Given the description of an element on the screen output the (x, y) to click on. 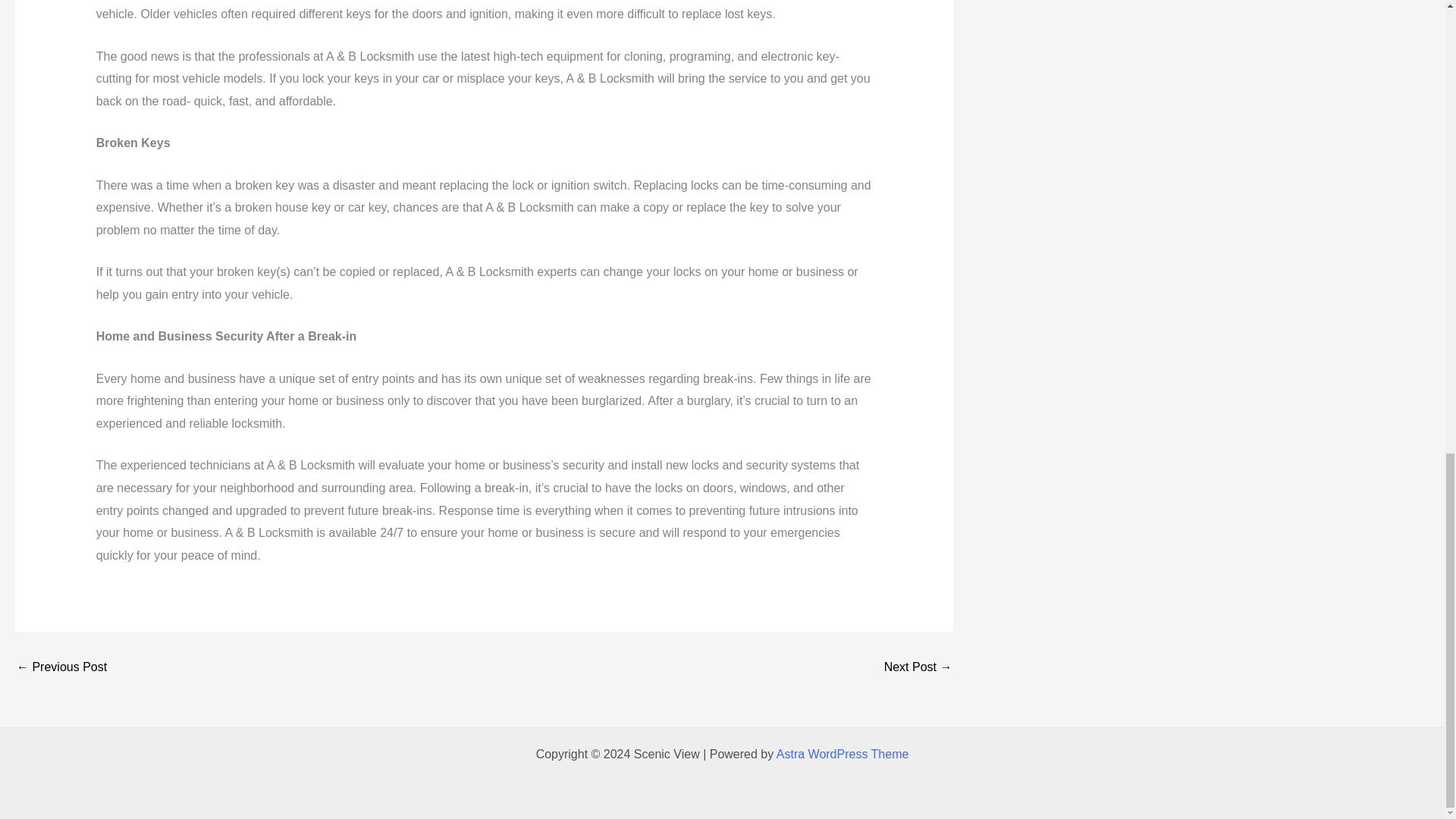
One Normanton Park - Luxury, Comfort, Ease of Living (61, 666)
Astra WordPress Theme (842, 753)
